Given the description of an element on the screen output the (x, y) to click on. 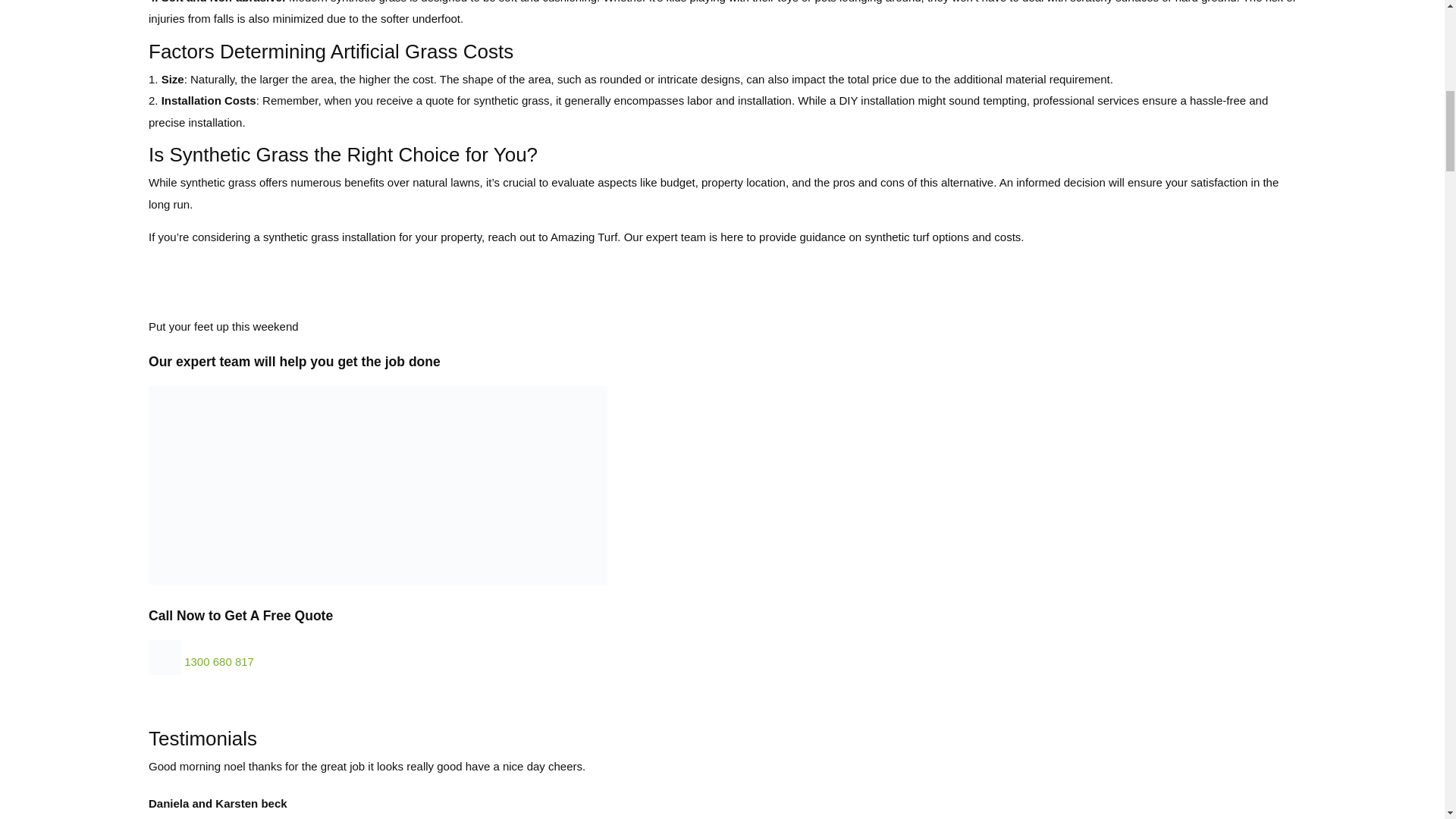
1300 680 817 (218, 661)
Fake Grass Melbourne (377, 484)
